Given the description of an element on the screen output the (x, y) to click on. 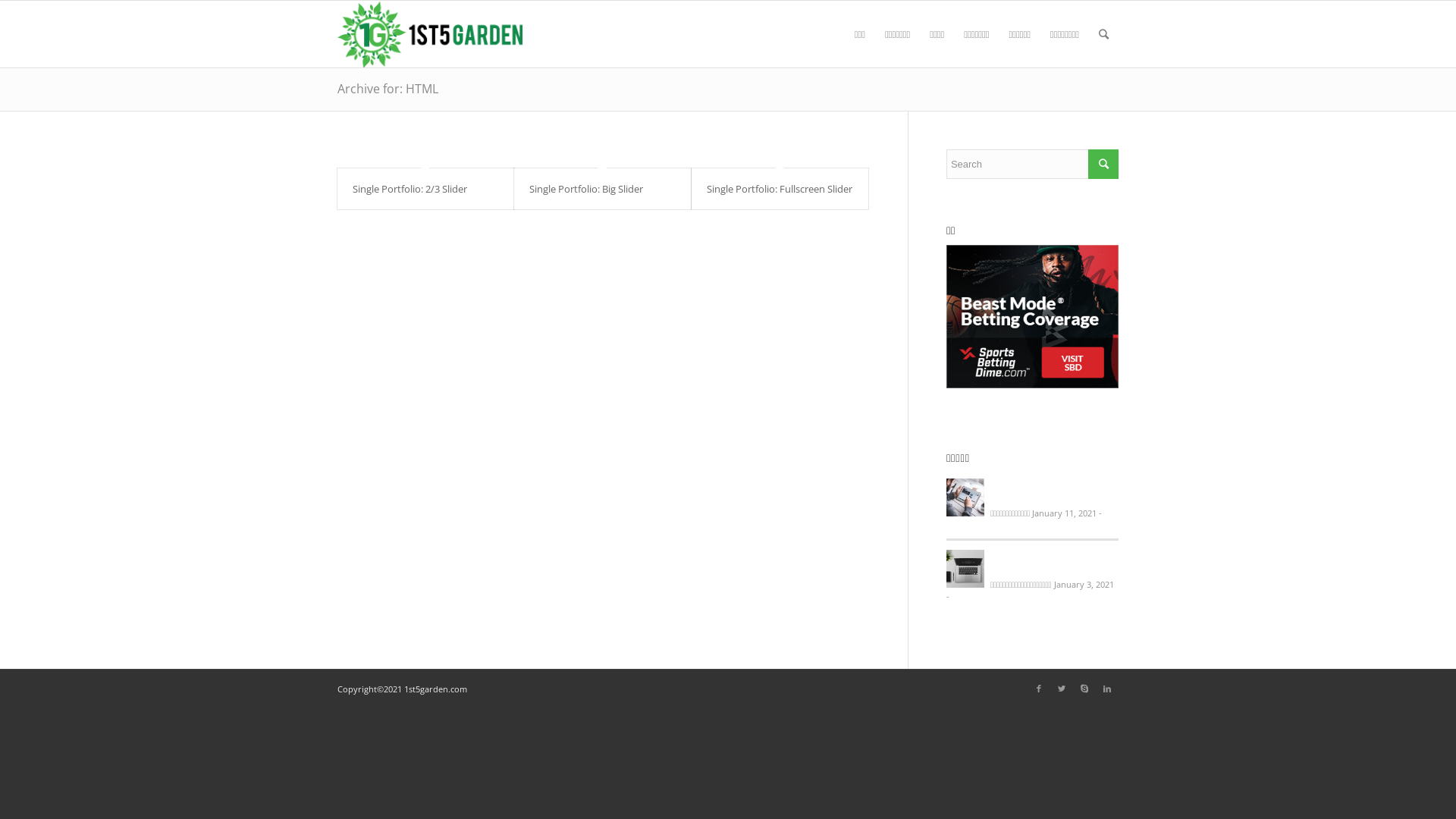
Skype Element type: hover (1084, 688)
Facebook Element type: hover (1038, 688)
Twitter Element type: hover (1061, 688)
Single Portfolio: 2/3 Slider Element type: text (409, 188)
LinkedIn Element type: hover (1106, 688)
Single Portfolio: Big Slider Element type: text (586, 188)
Archive for: HTML Element type: text (387, 88)
Single Portfolio: Fullscreen Slider Element type: text (779, 188)
